Given the description of an element on the screen output the (x, y) to click on. 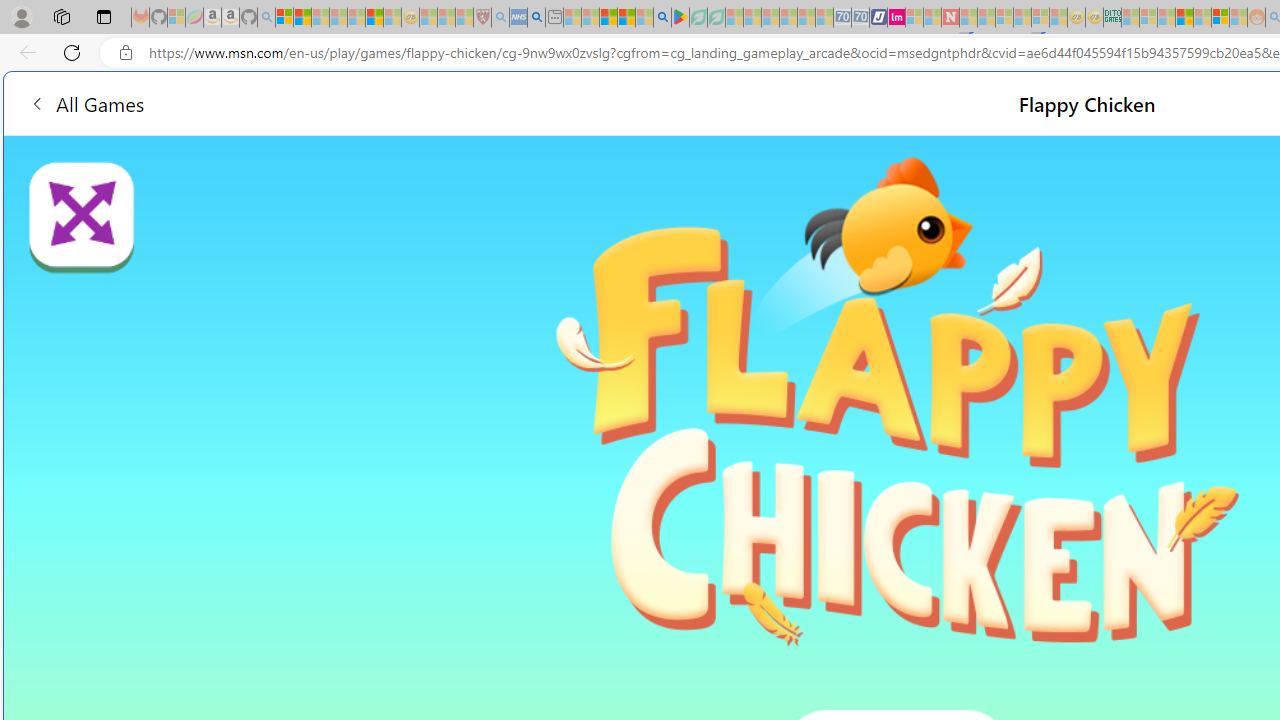
Pets - MSN (626, 17)
